Given the description of an element on the screen output the (x, y) to click on. 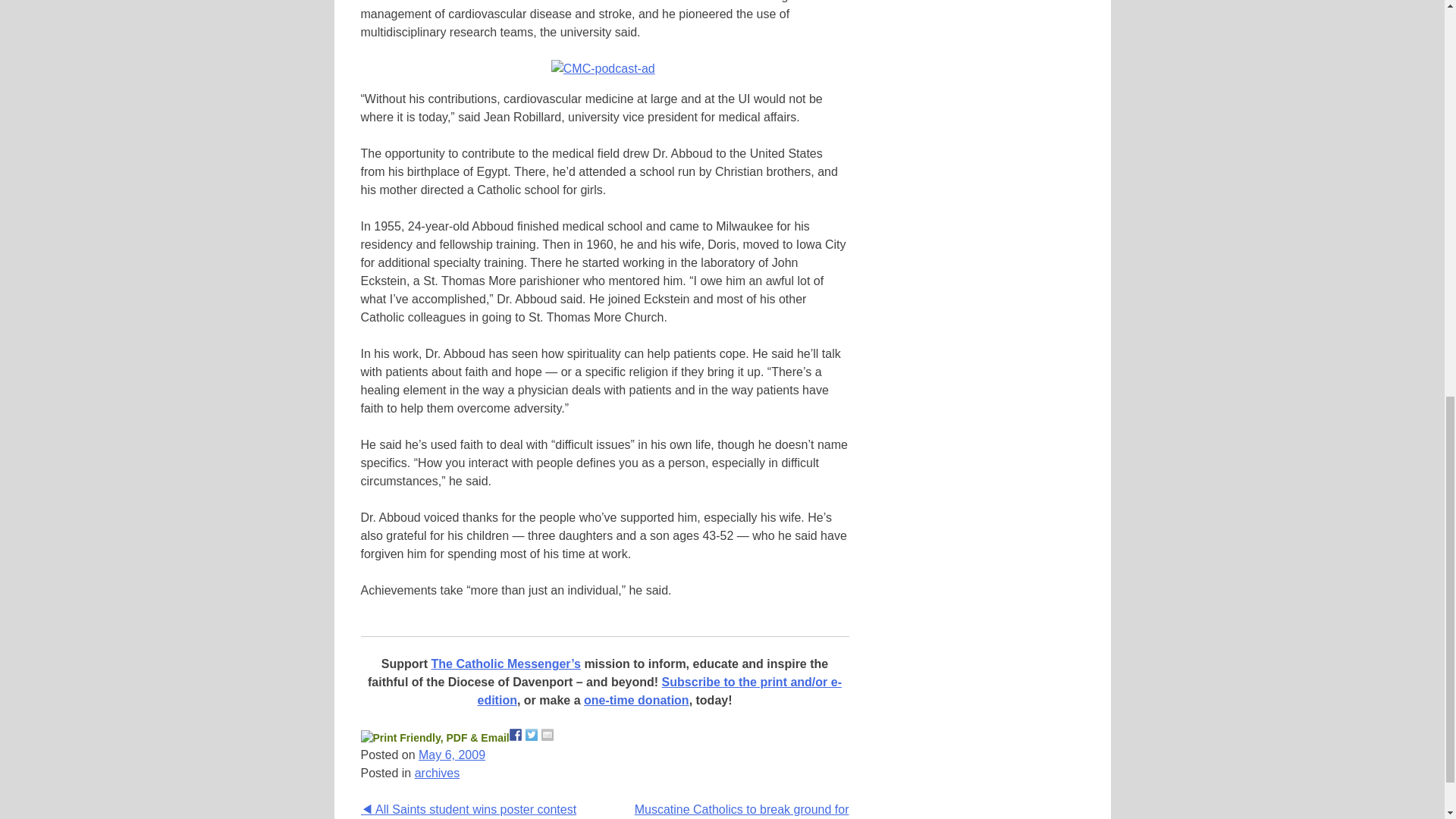
Share on Twitter (531, 734)
Share by email (547, 734)
Share on Facebook (515, 734)
